Given the description of an element on the screen output the (x, y) to click on. 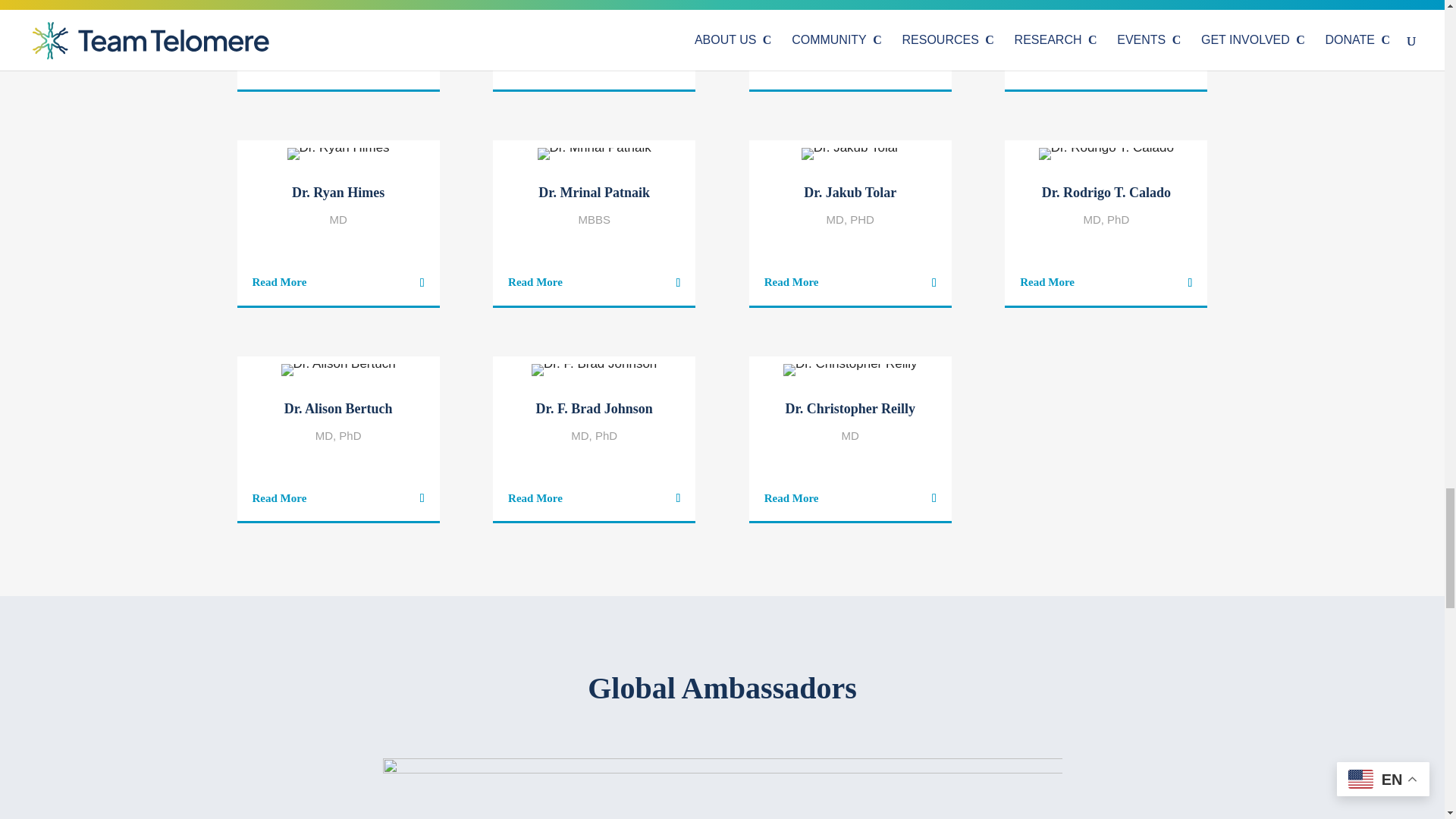
FlagIcons (721, 784)
